Given the description of an element on the screen output the (x, y) to click on. 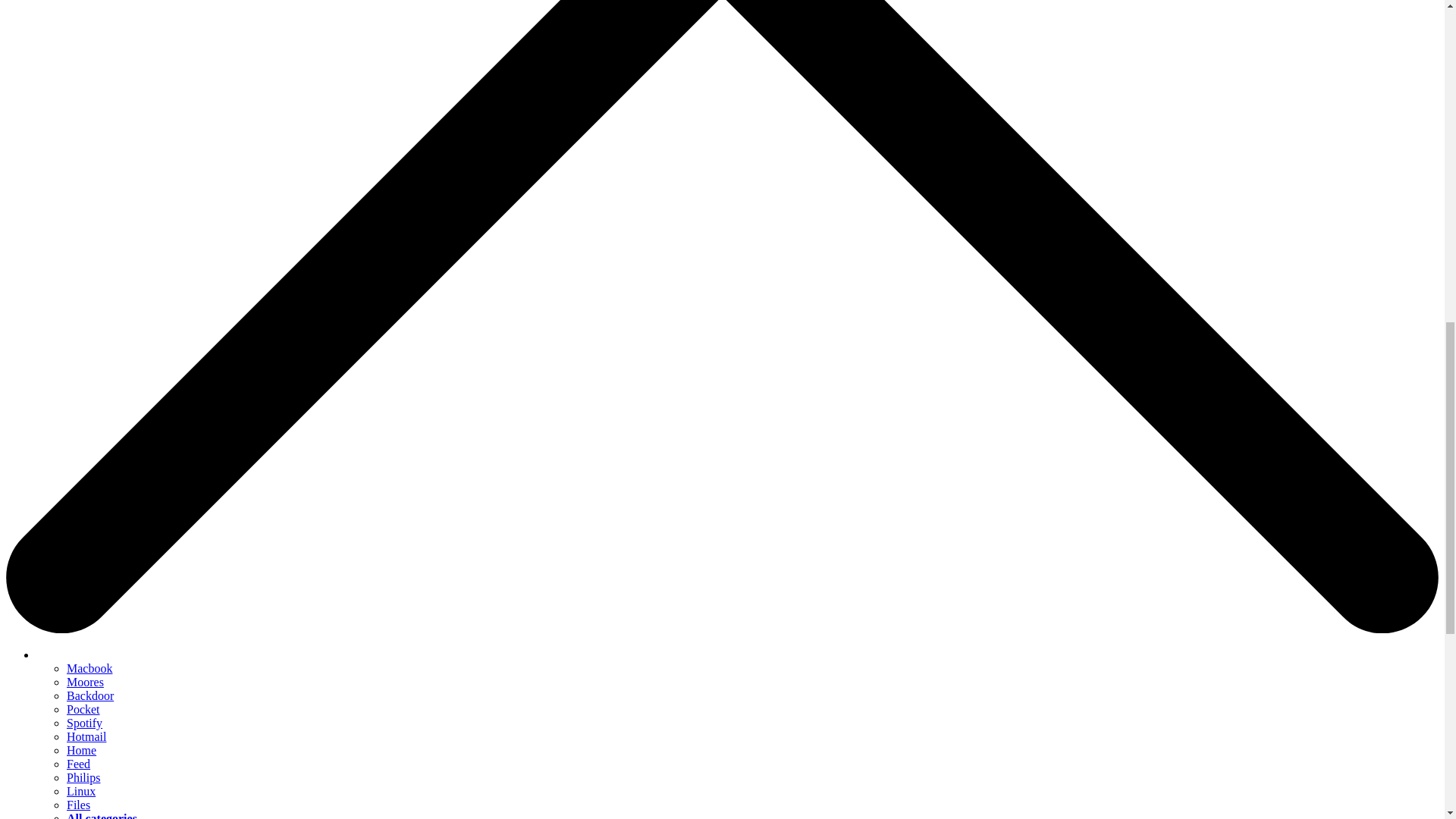
Linux (81, 790)
Pocket (83, 708)
Backdoor (89, 695)
Hotmail (86, 736)
Macbook (89, 667)
Spotify (83, 722)
Philips (83, 777)
Moores (84, 681)
Home (81, 749)
Files (78, 804)
